Given the description of an element on the screen output the (x, y) to click on. 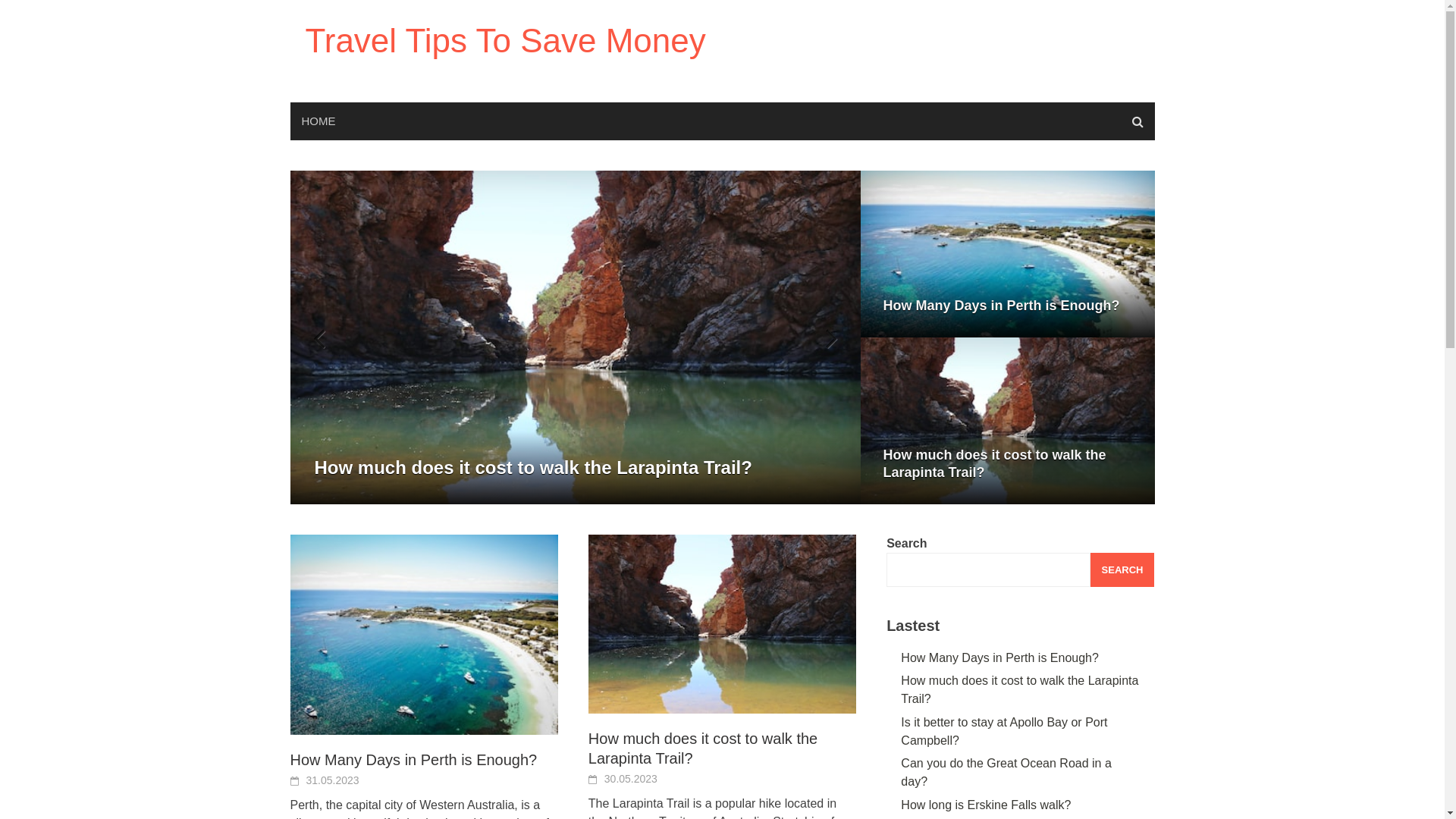
Can you do the Great Ocean Road in a day? Element type: text (1005, 771)
Next Element type: text (821, 337)
How much does it cost to walk the Larapinta Trail? Element type: text (1019, 689)
How Many Days in Perth is Enough? Element type: text (999, 657)
How much does it cost to walk the Larapinta Trail? Element type: hover (722, 622)
How Many Days in Perth is Enough? Element type: text (412, 759)
How Many Days in Perth is Enough? Element type: text (1006, 305)
SEARCH Element type: text (1122, 569)
How much does it cost to walk the Larapinta Trail? Element type: text (1006, 463)
How much does it cost to walk the Larapinta Trail? Element type: text (702, 748)
HOME Element type: text (317, 121)
Travel Tips To Save Money Element type: text (504, 40)
31.05.2023 Element type: text (332, 780)
Previous Element type: text (327, 337)
How Many Days in Perth is Enough? Element type: text (574, 467)
How Many Days in Perth is Enough? Element type: hover (423, 633)
30.05.2023 Element type: text (630, 778)
How long is Erskine Falls walk? Element type: text (985, 804)
Is it better to stay at Apollo Bay or Port Campbell? Element type: text (1003, 730)
